Given the description of an element on the screen output the (x, y) to click on. 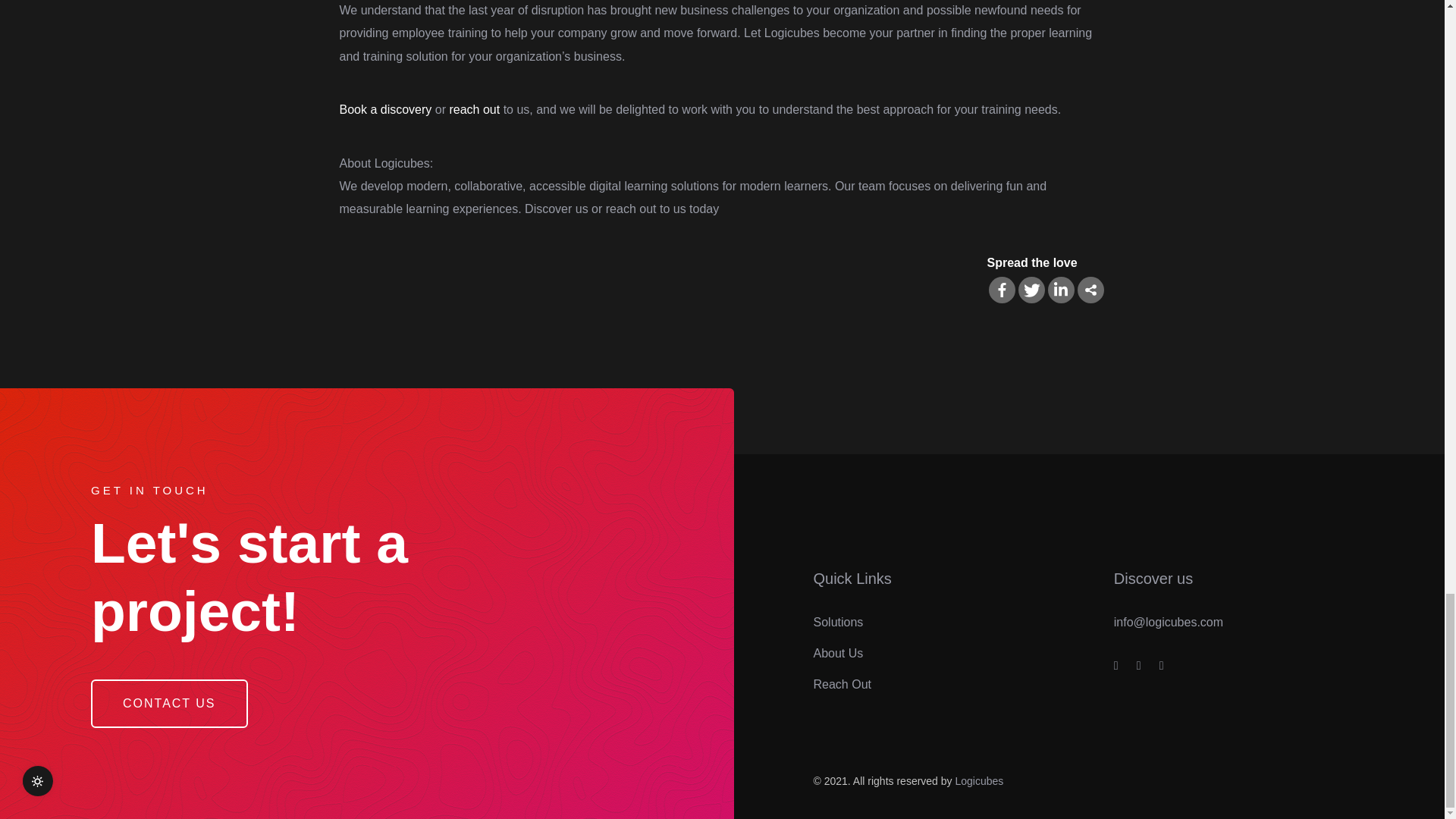
CONTACT US (168, 703)
Facebook (1001, 289)
Reach Out (841, 684)
Book a discovery (385, 109)
Solutions (837, 621)
About Us (837, 653)
Linkedin (1061, 289)
reach out (473, 109)
Logicubes (979, 780)
Twitter (1030, 289)
